Given the description of an element on the screen output the (x, y) to click on. 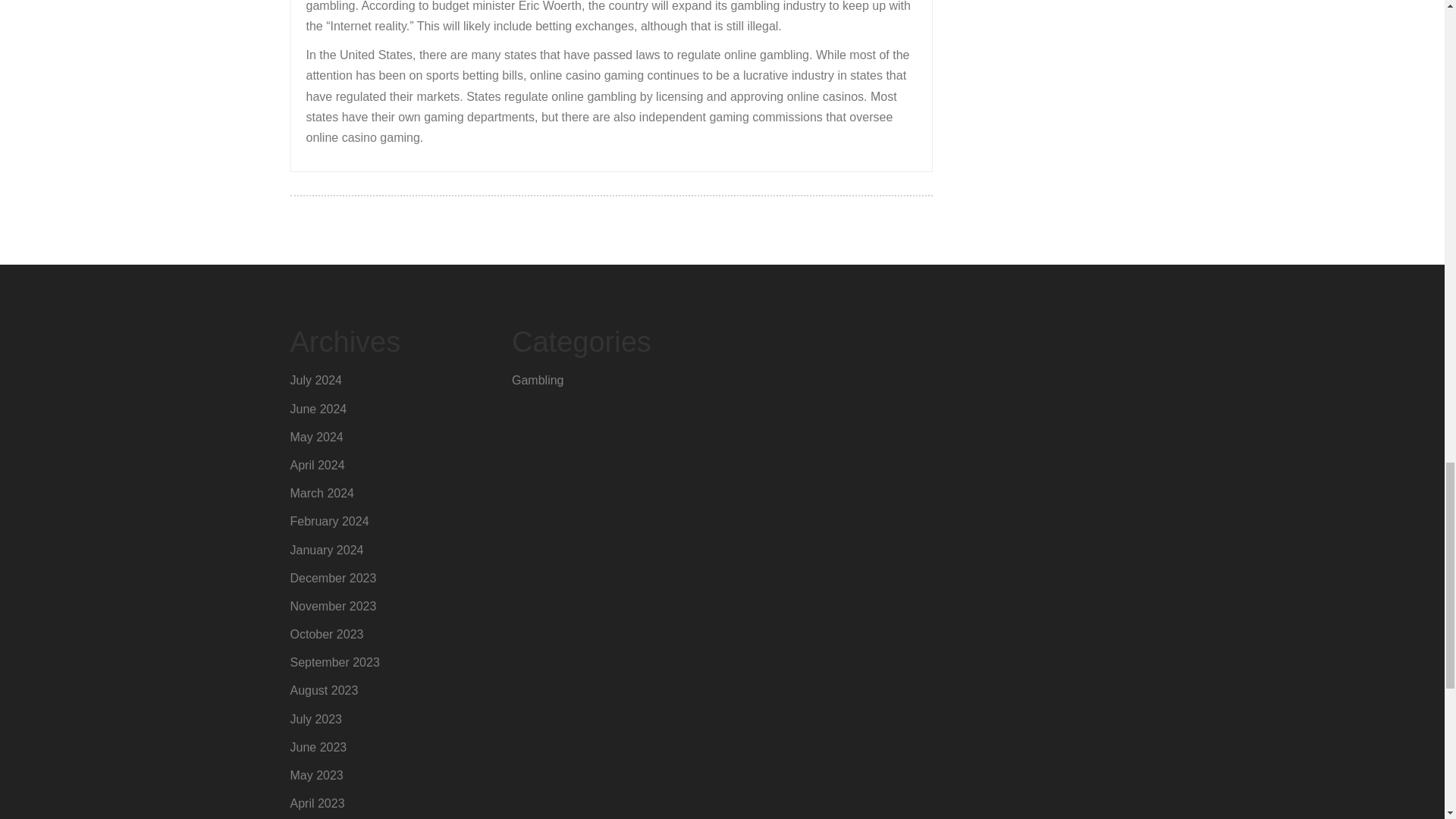
May 2024 (315, 436)
August 2023 (323, 689)
May 2023 (315, 775)
April 2023 (316, 802)
March 2024 (321, 492)
January 2024 (325, 549)
June 2023 (317, 747)
September 2023 (333, 662)
July 2024 (315, 379)
June 2024 (317, 408)
February 2024 (328, 521)
November 2023 (332, 605)
April 2024 (316, 464)
July 2023 (315, 718)
December 2023 (332, 577)
